Given the description of an element on the screen output the (x, y) to click on. 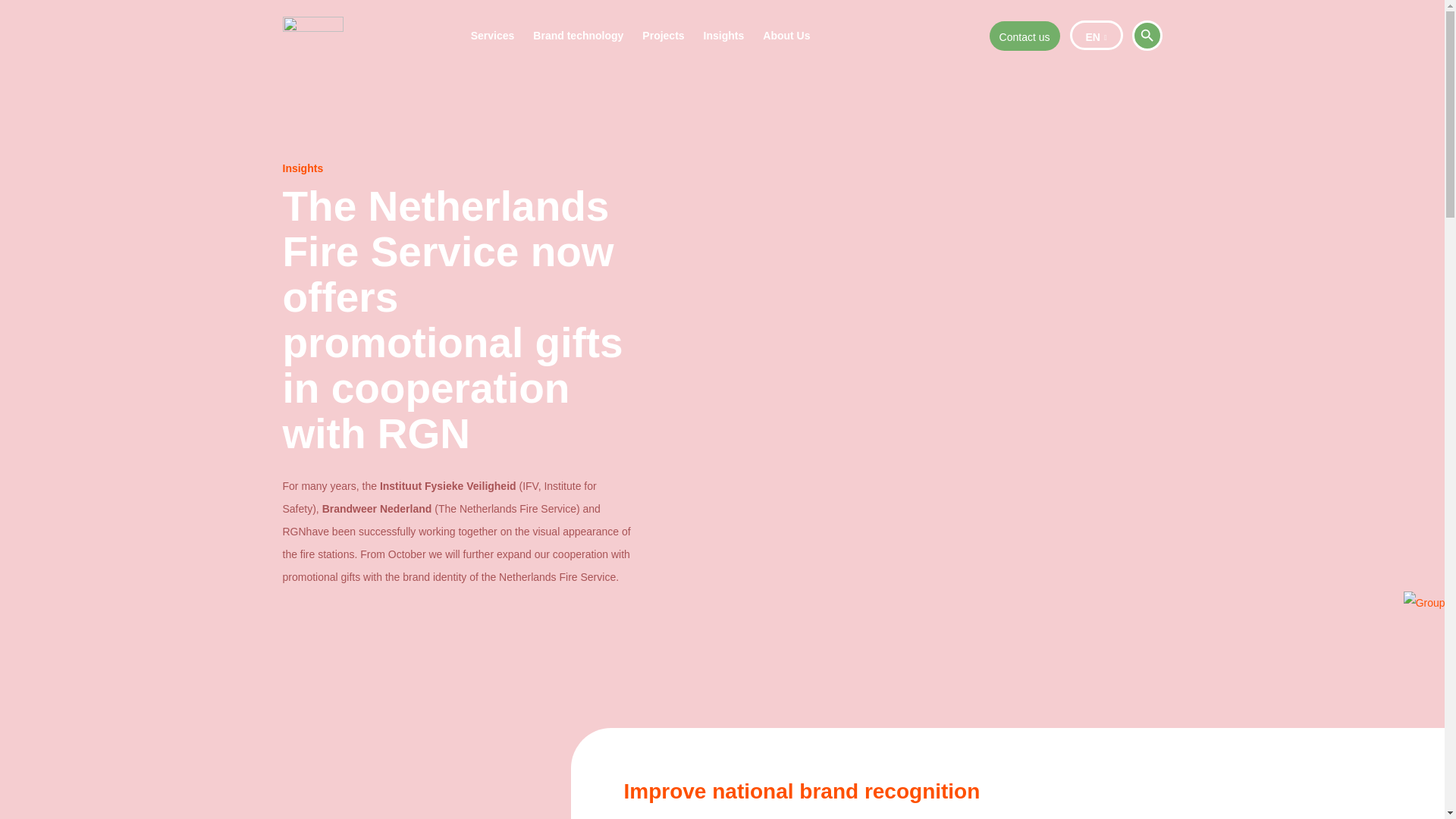
Brandweer Nederland (376, 508)
EN (1096, 34)
Brand technology (577, 35)
Instituut Fysieke Veiligheid (448, 485)
Contact us (1024, 35)
